Given the description of an element on the screen output the (x, y) to click on. 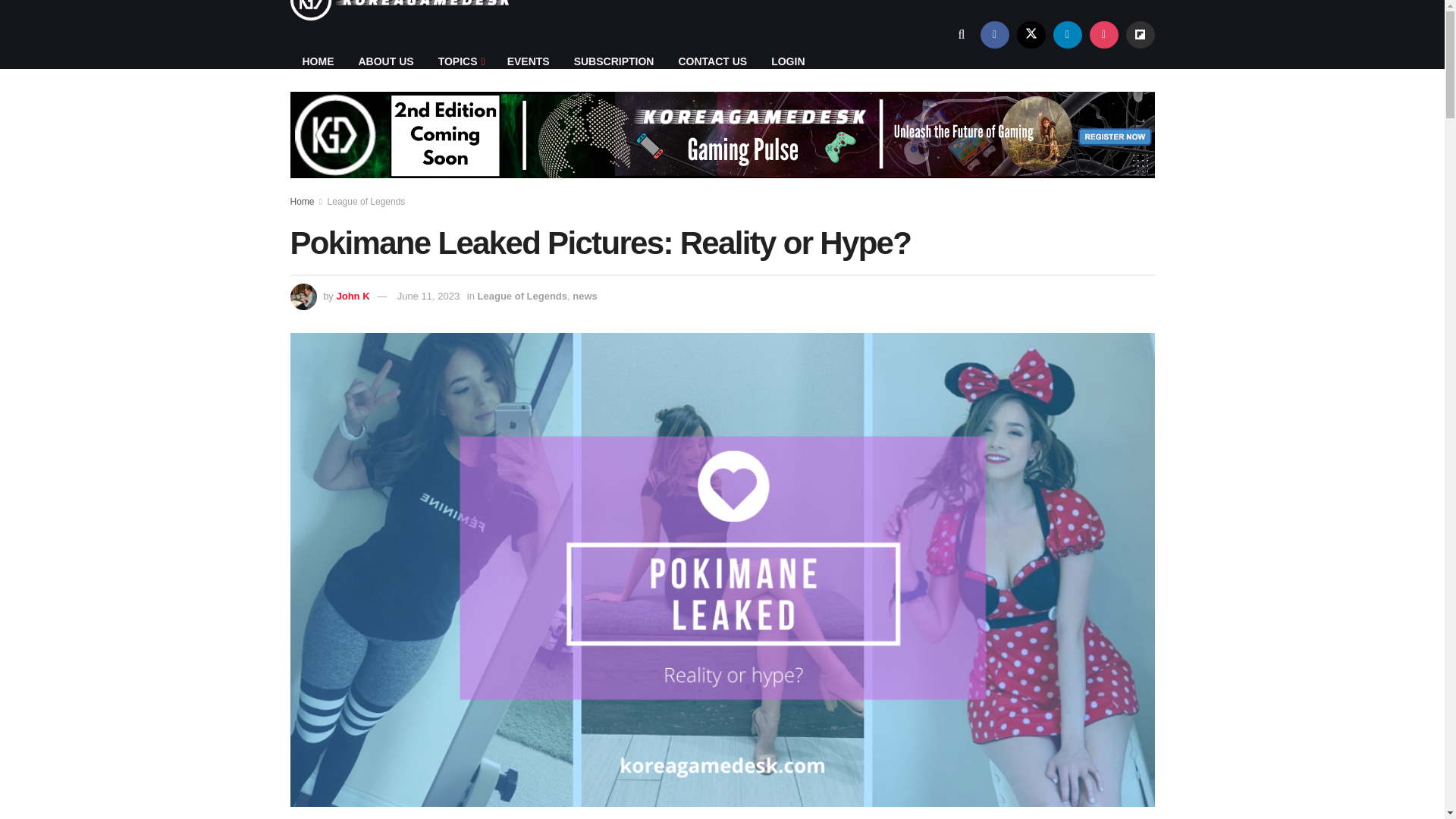
EVENTS (528, 61)
TOPICS (460, 61)
SUBSCRIPTION (614, 61)
CONTACT US (711, 61)
ABOUT US (385, 61)
